Given the description of an element on the screen output the (x, y) to click on. 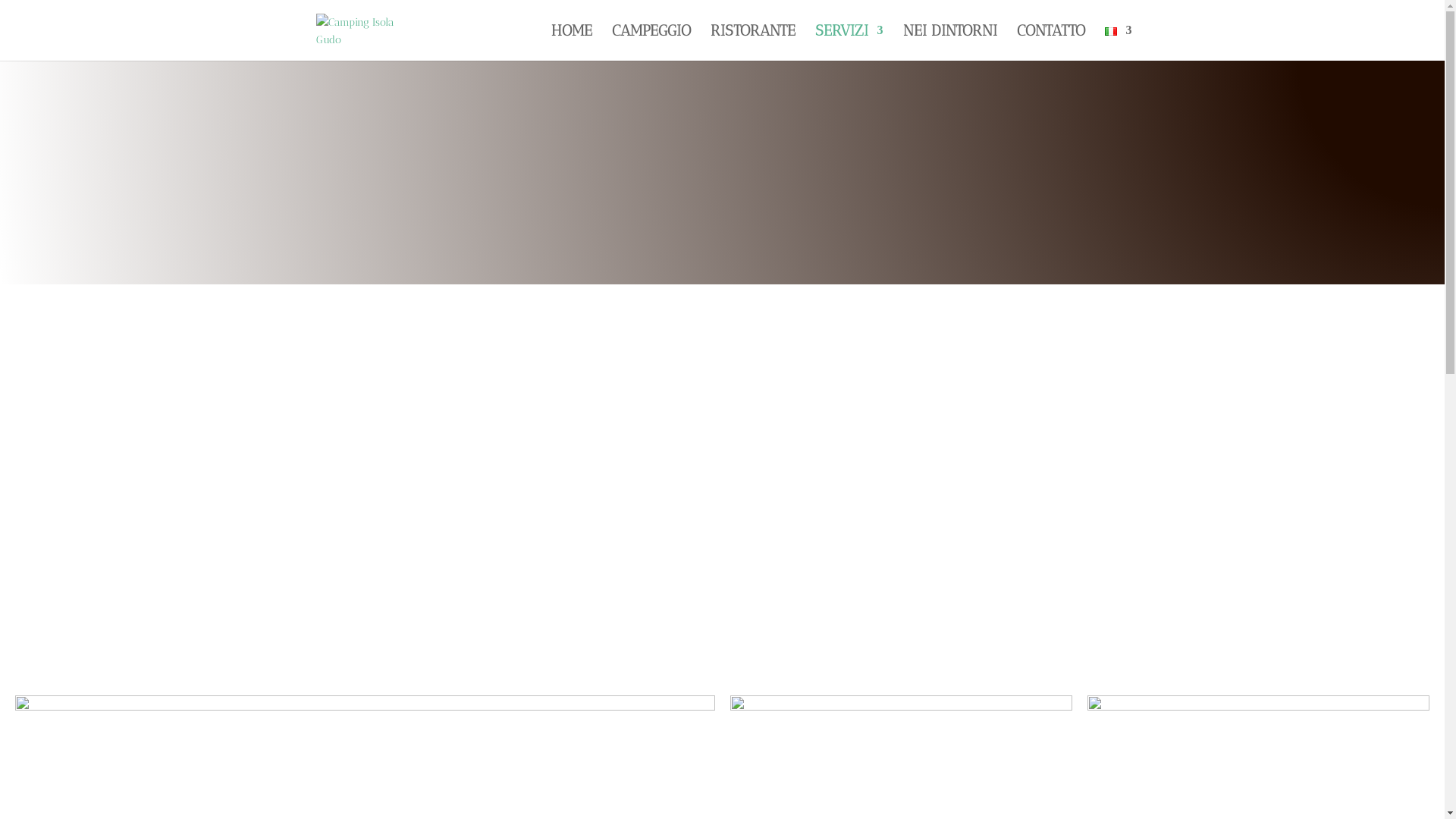
NEI DINTORNI Element type: text (949, 42)
HOME Element type: text (570, 42)
RISTORANTE Element type: text (751, 42)
SERVIZI Element type: text (848, 42)
CONTATTO Element type: text (1050, 42)
CAMPEGGIO Element type: text (650, 42)
